Given the description of an element on the screen output the (x, y) to click on. 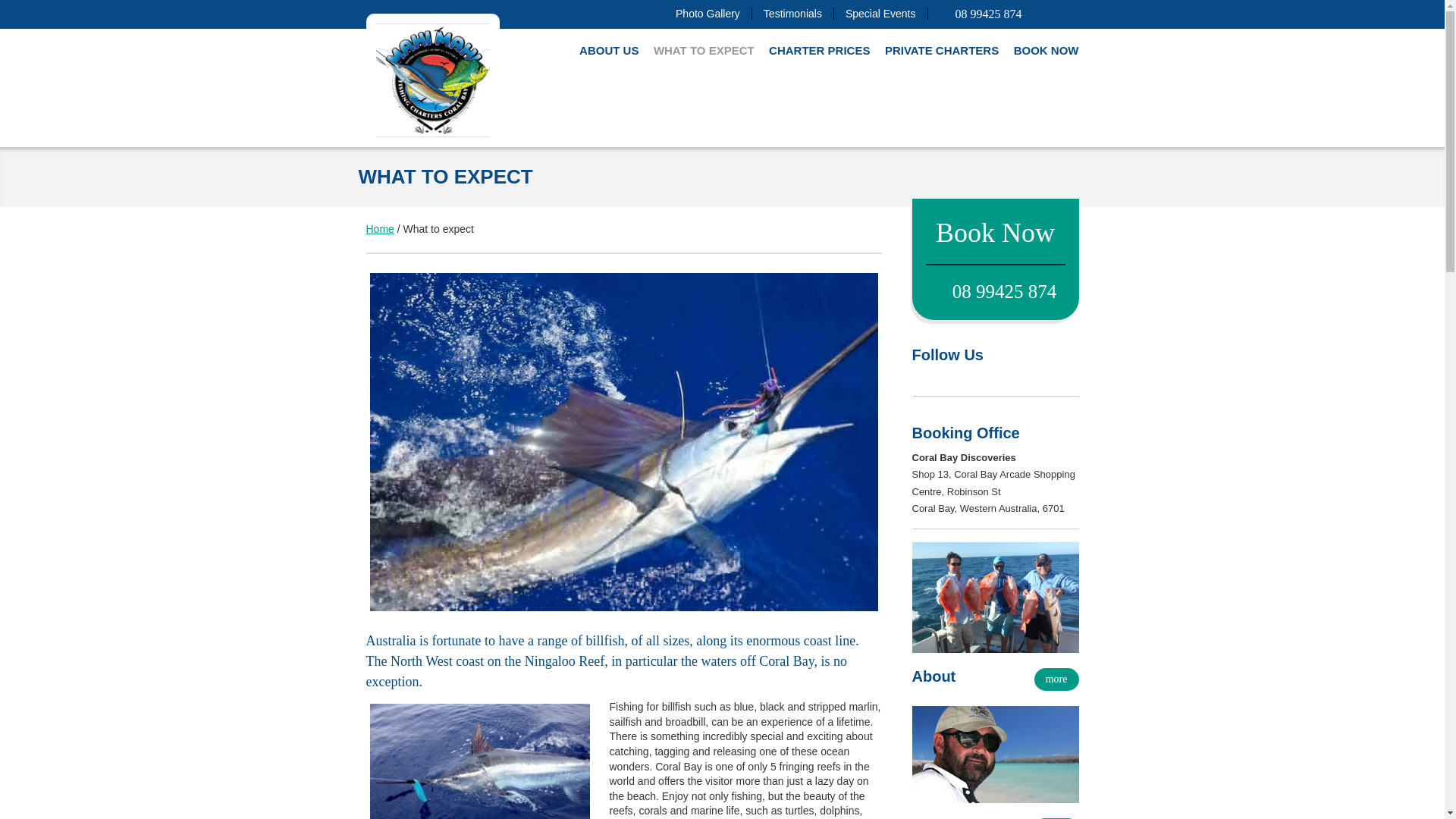
PRIVATE CHARTERS (941, 50)
Mahi Mahi Fishing Charters (379, 228)
Testimonials (797, 13)
Home (379, 228)
WHAT TO EXPECT (703, 50)
more (1055, 679)
CHARTER PRICES (818, 50)
BOOK NOW (1045, 50)
Photo Gallery (713, 13)
Book Now (995, 232)
